Given the description of an element on the screen output the (x, y) to click on. 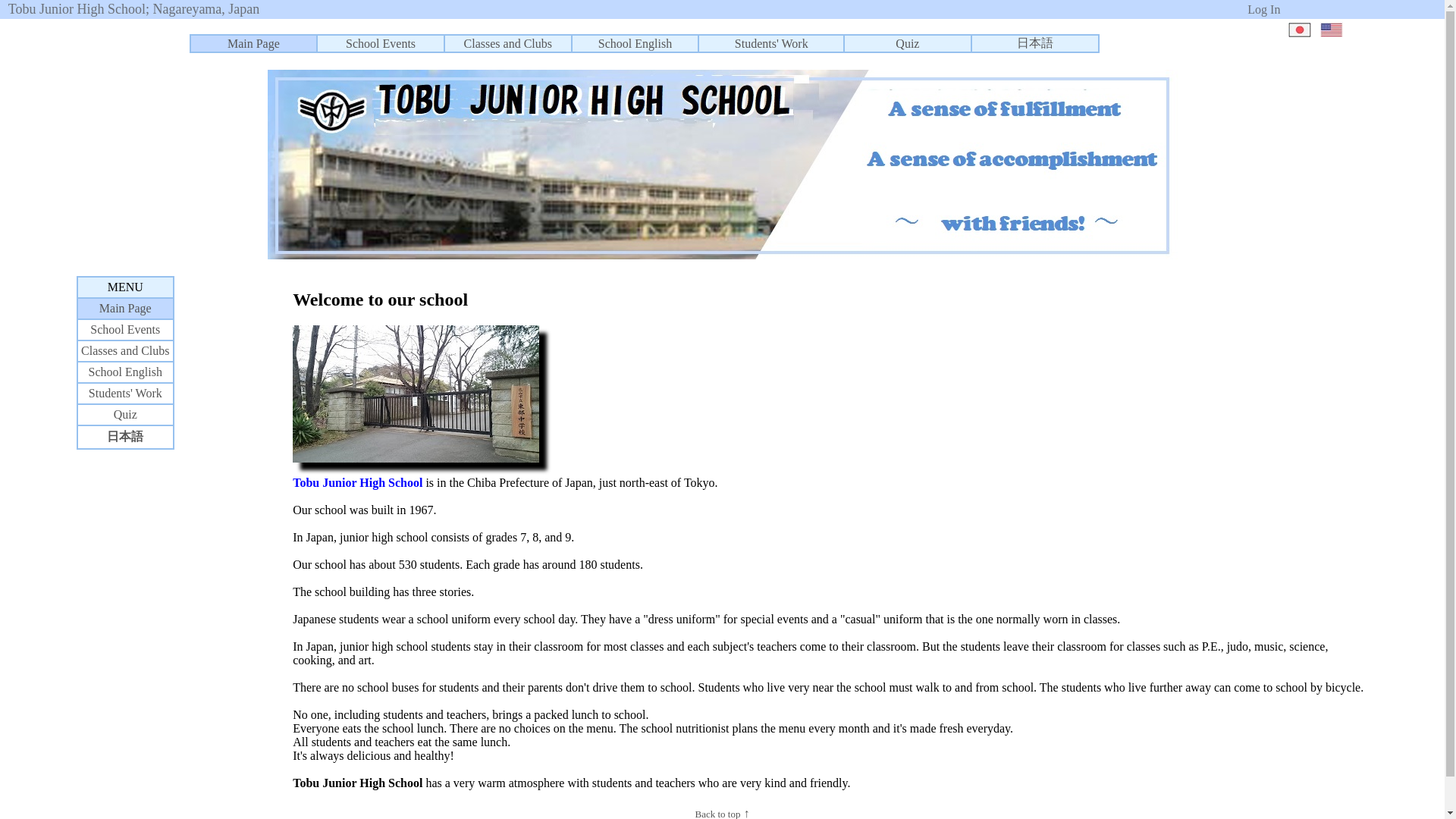
School Events (380, 42)
School English (634, 42)
Students' Work (124, 392)
Classes and Clubs (507, 42)
Classes and Clubs (124, 350)
School Events (125, 328)
School English (124, 371)
Quiz (124, 413)
Main Page (253, 42)
Quiz (906, 42)
Main Page (125, 308)
Students' Work (771, 42)
Log In (1263, 9)
